Given the description of an element on the screen output the (x, y) to click on. 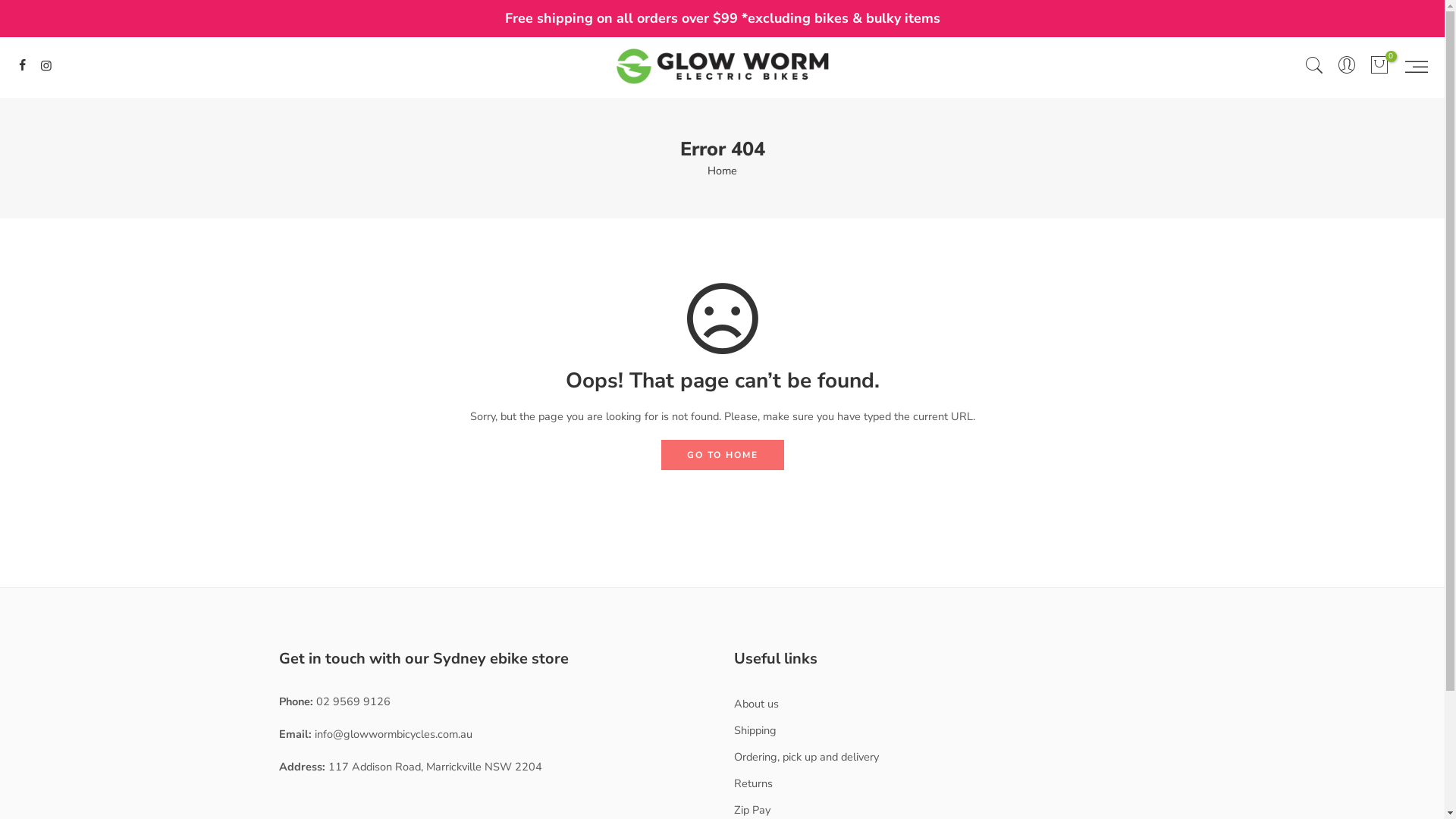
Ordering, pick up and delivery Element type: text (806, 756)
GO TO HOME Element type: text (722, 454)
Returns Element type: text (753, 782)
Home Element type: text (722, 170)
Zip Pay Element type: text (752, 809)
0 Element type: text (1378, 66)
About us Element type: text (756, 703)
Shipping Element type: text (755, 729)
